Given the description of an element on the screen output the (x, y) to click on. 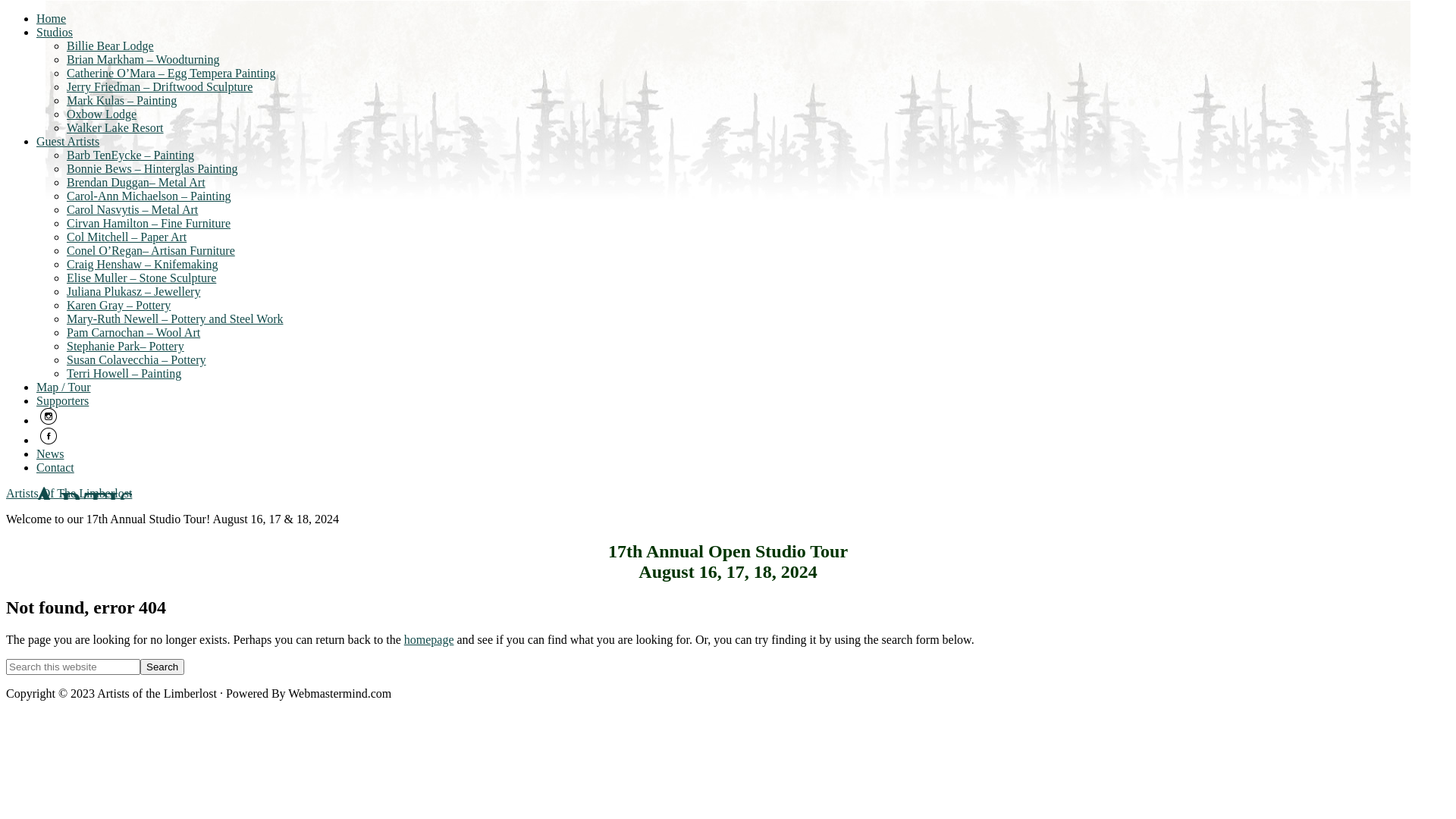
Search Element type: text (162, 666)
Supporters Element type: text (62, 400)
Artists Of The Limberlost Element type: text (68, 492)
Walker Lake Resort Element type: text (114, 127)
Studios Element type: text (54, 31)
Billie Bear Lodge Element type: text (109, 45)
Home Element type: text (50, 18)
Contact Element type: text (55, 467)
Map / Tour Element type: text (63, 386)
Guest Artists Element type: text (67, 140)
News Element type: text (49, 453)
homepage Element type: text (429, 639)
Oxbow Lodge Element type: text (101, 113)
